Given the description of an element on the screen output the (x, y) to click on. 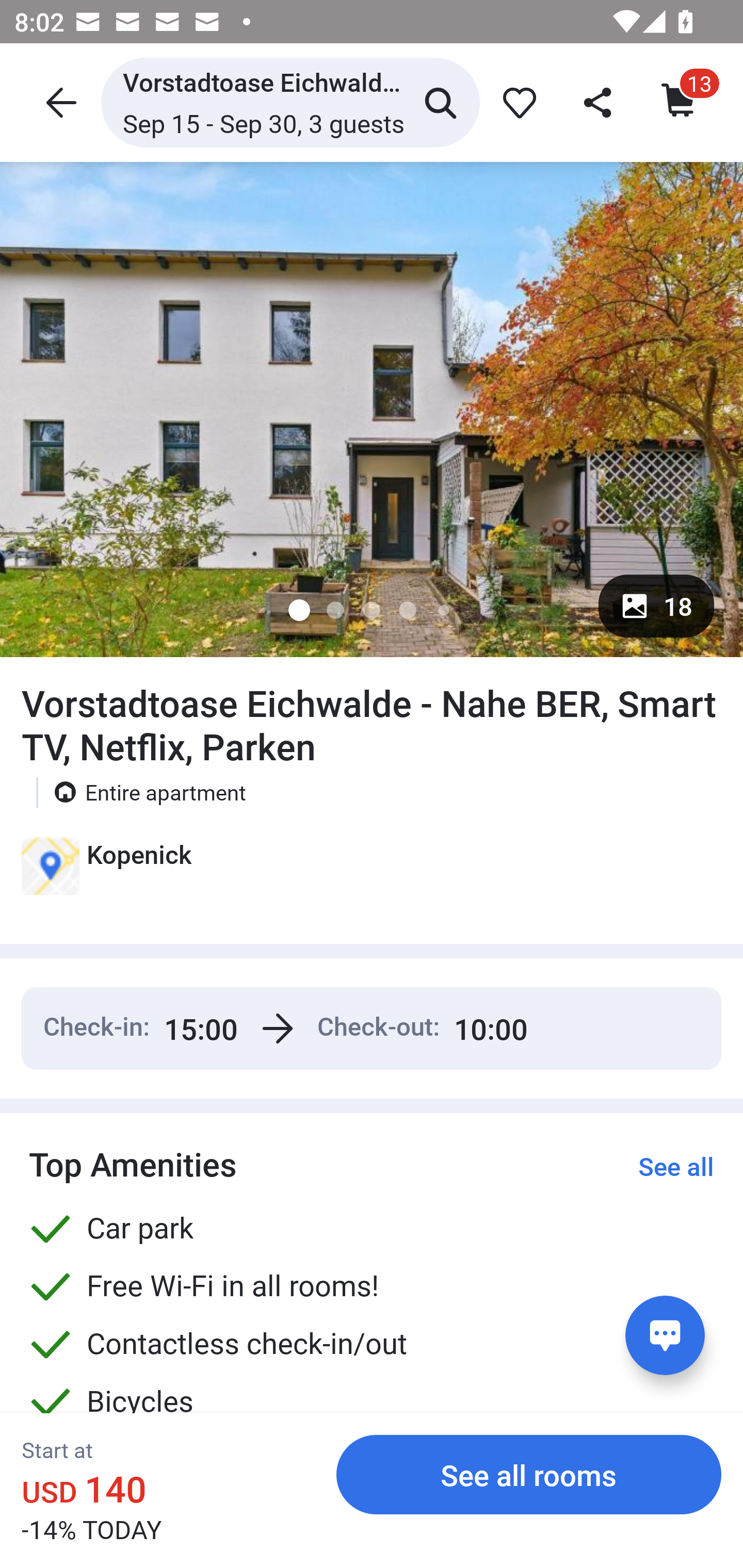
header icon (59, 102)
favorite_icon 0dbe6efb (515, 102)
share_header_icon (598, 102)
Cart icon cart_item_count 13 (679, 102)
image (371, 408)
18 (656, 605)
Kopenick (106, 872)
See all (676, 1165)
See all rooms (528, 1474)
